Given the description of an element on the screen output the (x, y) to click on. 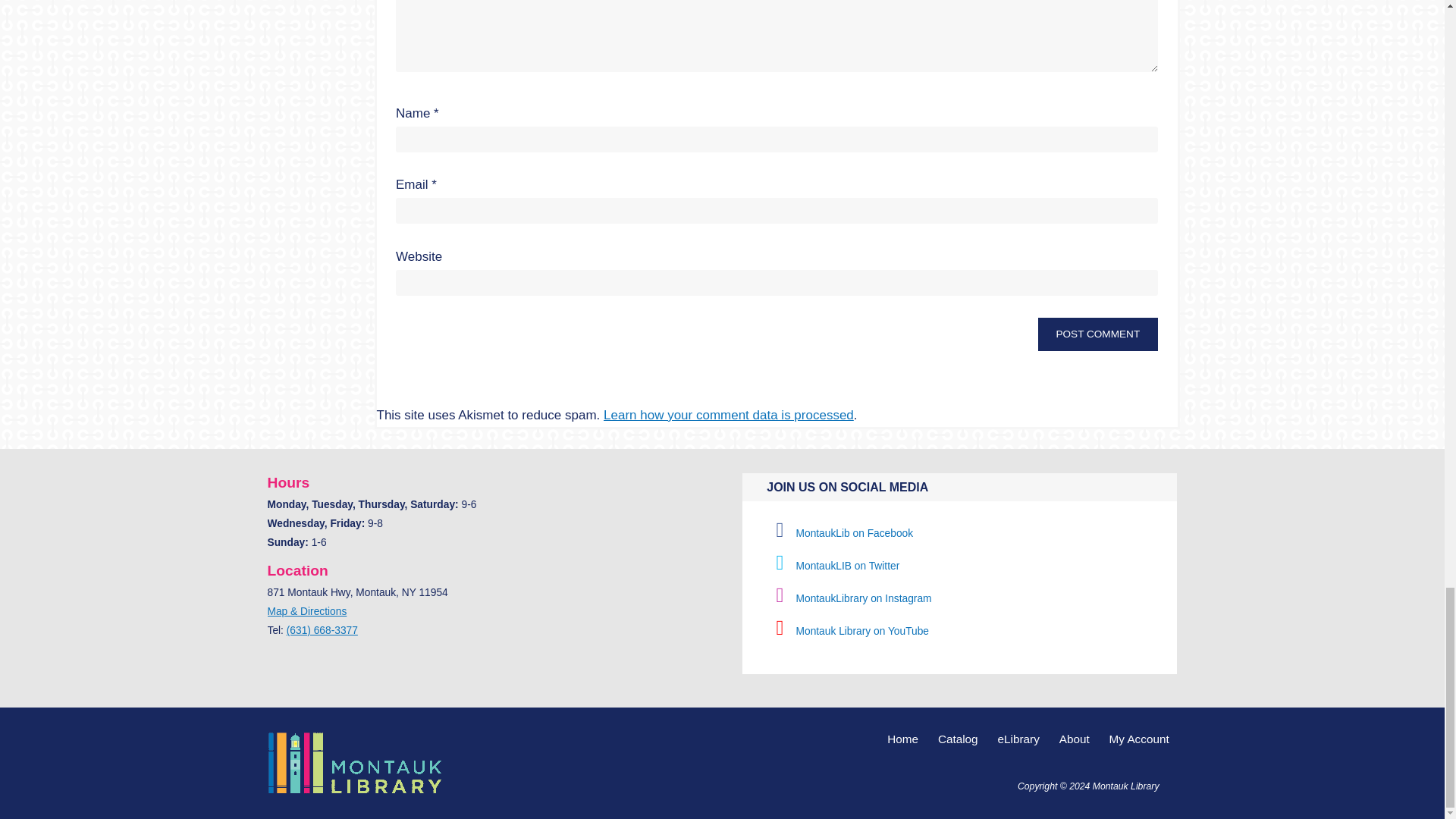
Post Comment (1097, 334)
